Given the description of an element on the screen output the (x, y) to click on. 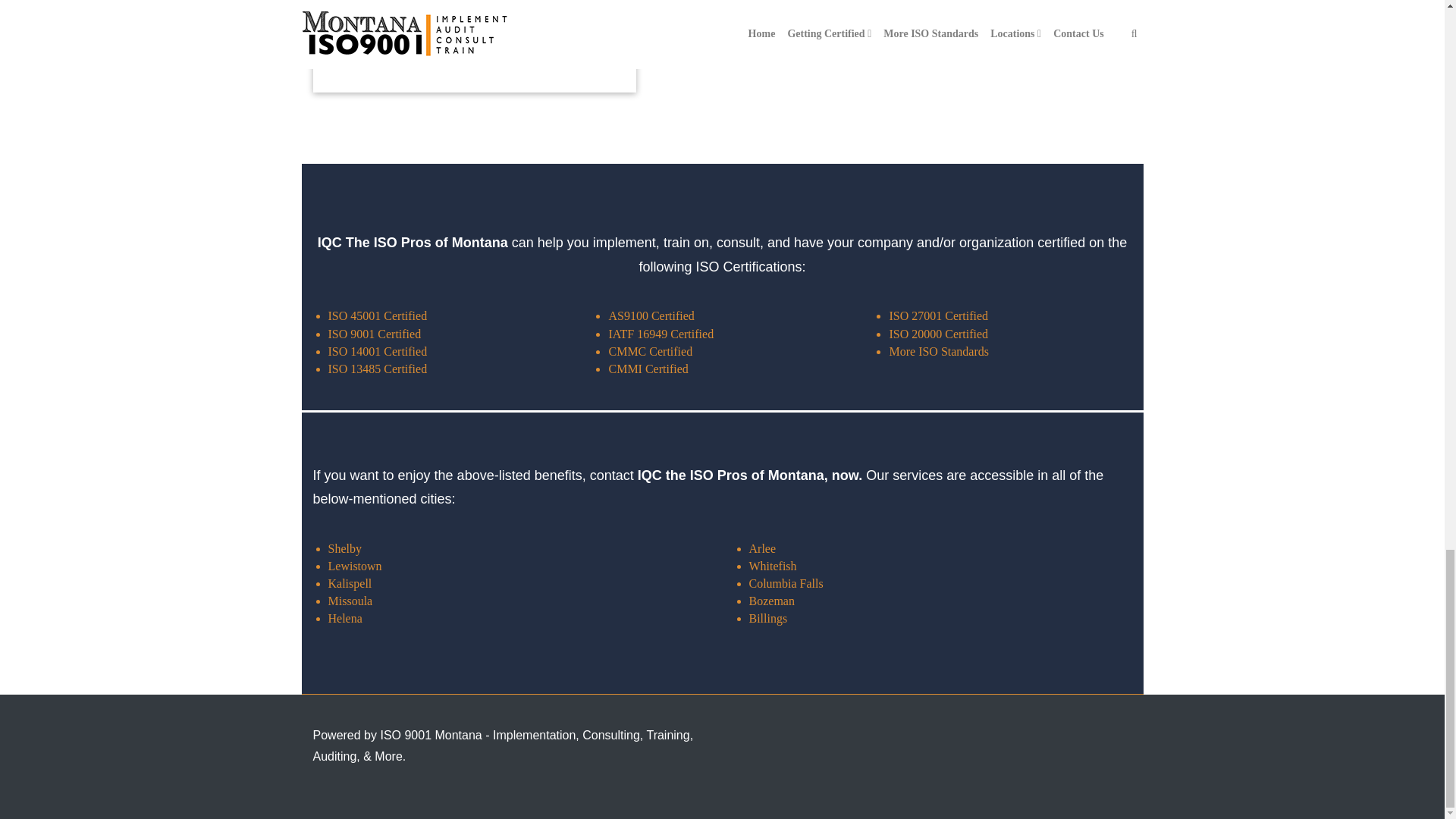
Yes, Send Me a FREE Quote! (419, 27)
AS9100 Certified (651, 315)
ISO 9001 Certified (373, 333)
ISO 14001 Certified (376, 350)
ISO 45001 Certified (376, 315)
ISO 13485 Certified (376, 368)
